Given the description of an element on the screen output the (x, y) to click on. 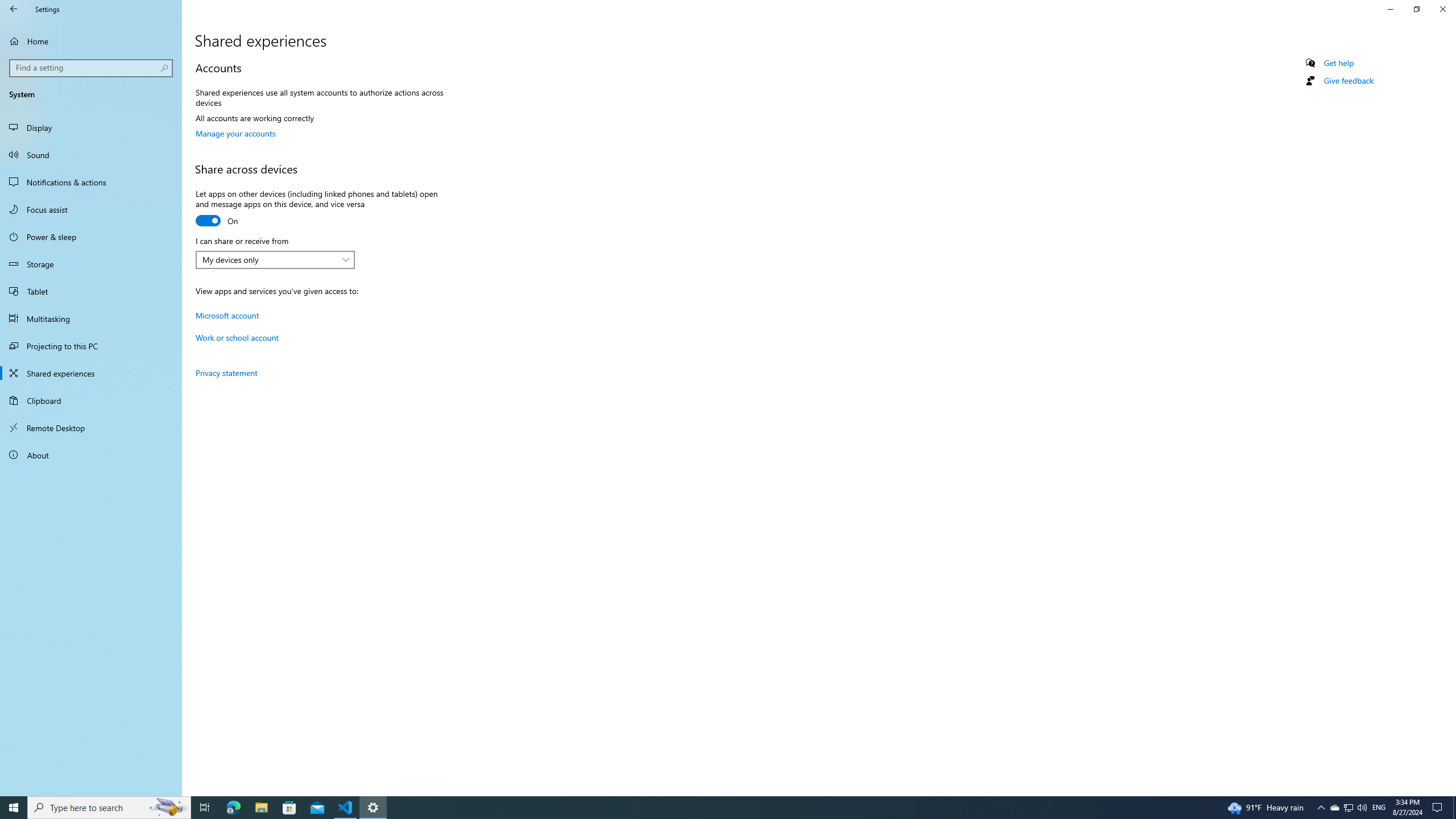
Multitasking (91, 318)
Tablet (91, 290)
Visual Studio Code - 1 running window (345, 807)
Home (91, 40)
Give feedback (1348, 80)
Back (13, 9)
Get help (1338, 62)
Focus assist (91, 208)
Manage your accounts (235, 132)
Running applications (706, 807)
Restore Settings (1416, 9)
Settings - 1 running window (373, 807)
Microsoft Store (289, 807)
Type here to search (108, 807)
